Given the description of an element on the screen output the (x, y) to click on. 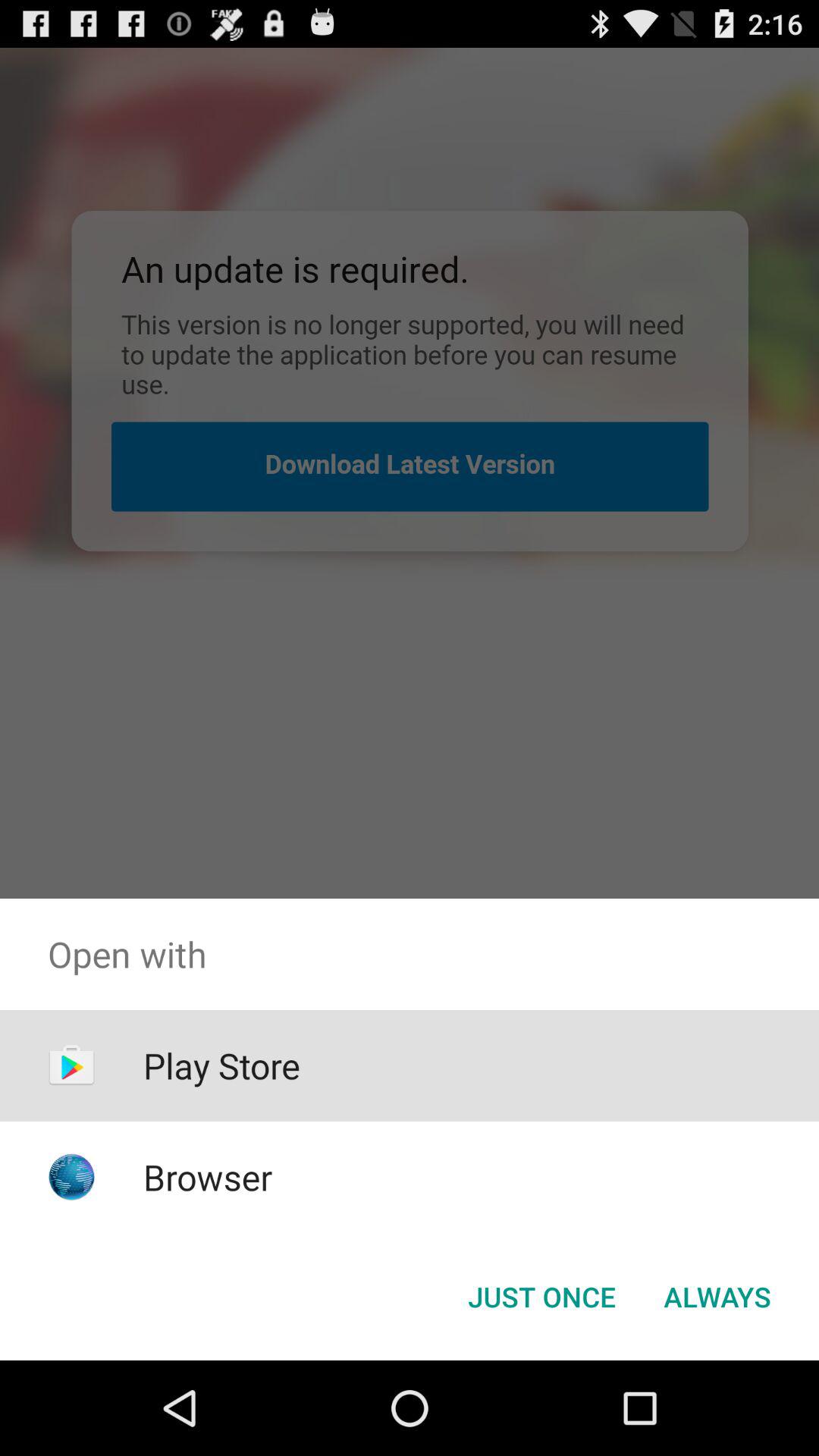
turn on the icon to the right of the just once button (717, 1296)
